Given the description of an element on the screen output the (x, y) to click on. 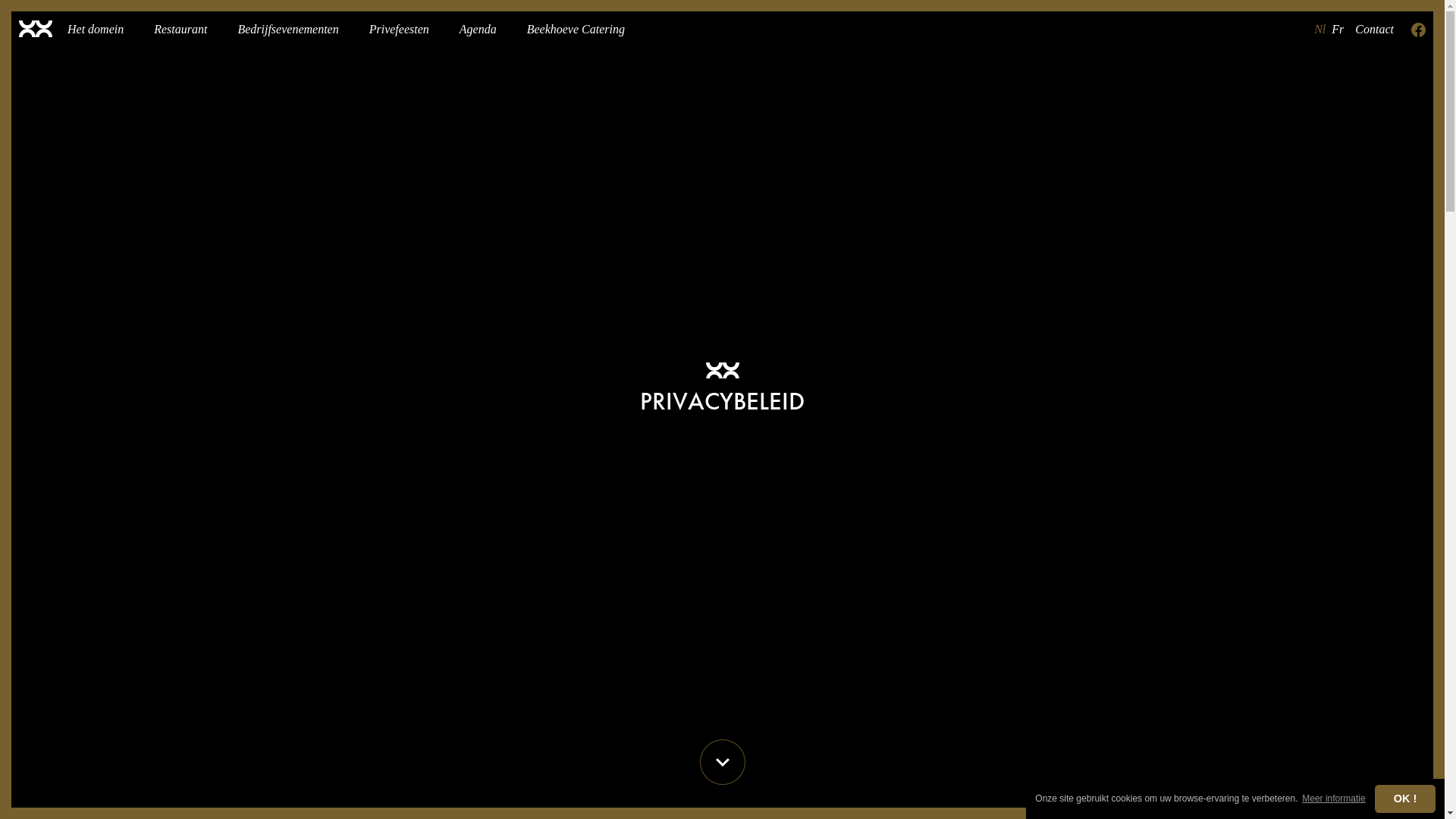
Het domein Element type: text (95, 29)
Meer informatie Element type: text (1333, 798)
nl Element type: text (1319, 29)
Contact Element type: text (1374, 29)
Bedrijfsevenementen Element type: text (287, 29)
Beekhoeve Catering Element type: text (575, 29)
Agenda Element type: text (477, 29)
Restaurant Element type: text (180, 29)
Naar de pagina Facebook Element type: hover (1418, 29)
Privefeesten Element type: text (399, 29)
Vers la page d'accueil Element type: hover (35, 29)
fr Element type: text (1337, 29)
OK ! Element type: text (1404, 798)
